Given the description of an element on the screen output the (x, y) to click on. 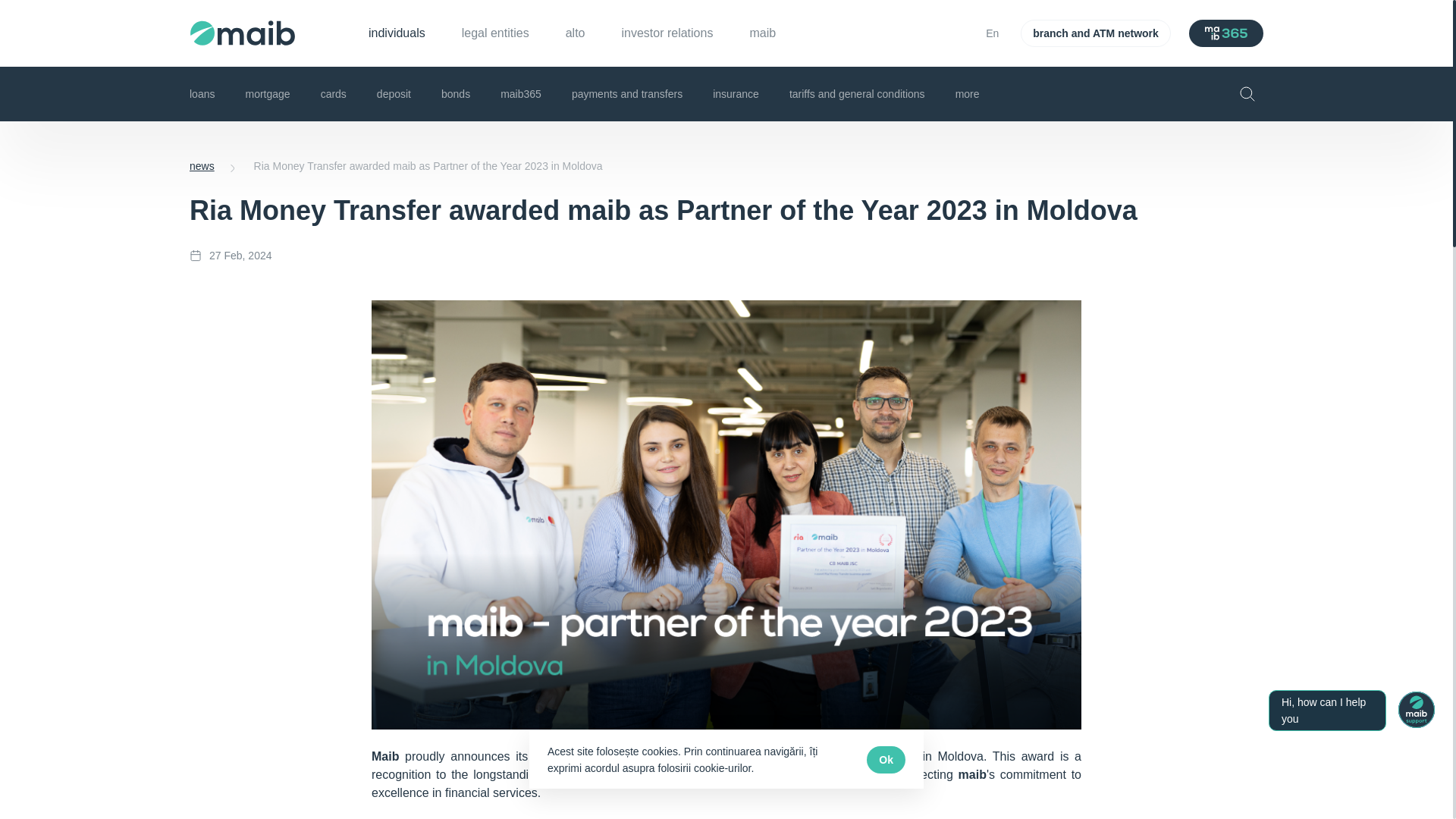
investor relations (667, 33)
legal entities (495, 33)
branch and ATM network (1095, 32)
En (994, 33)
individuals (396, 33)
